Given the description of an element on the screen output the (x, y) to click on. 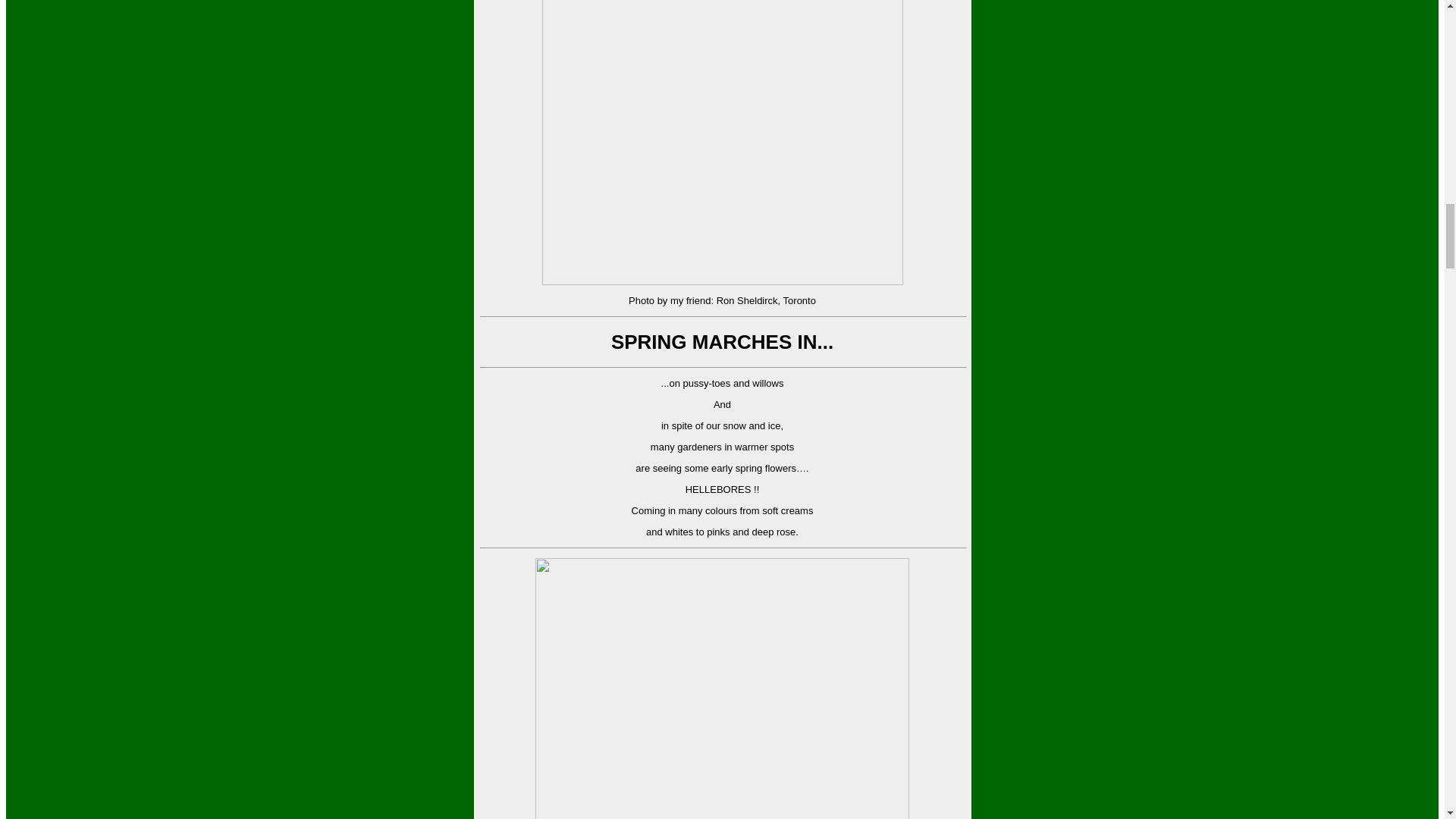
my Hellebore sketch (721, 688)
Ron's Hyacinths (721, 142)
